Given the description of an element on the screen output the (x, y) to click on. 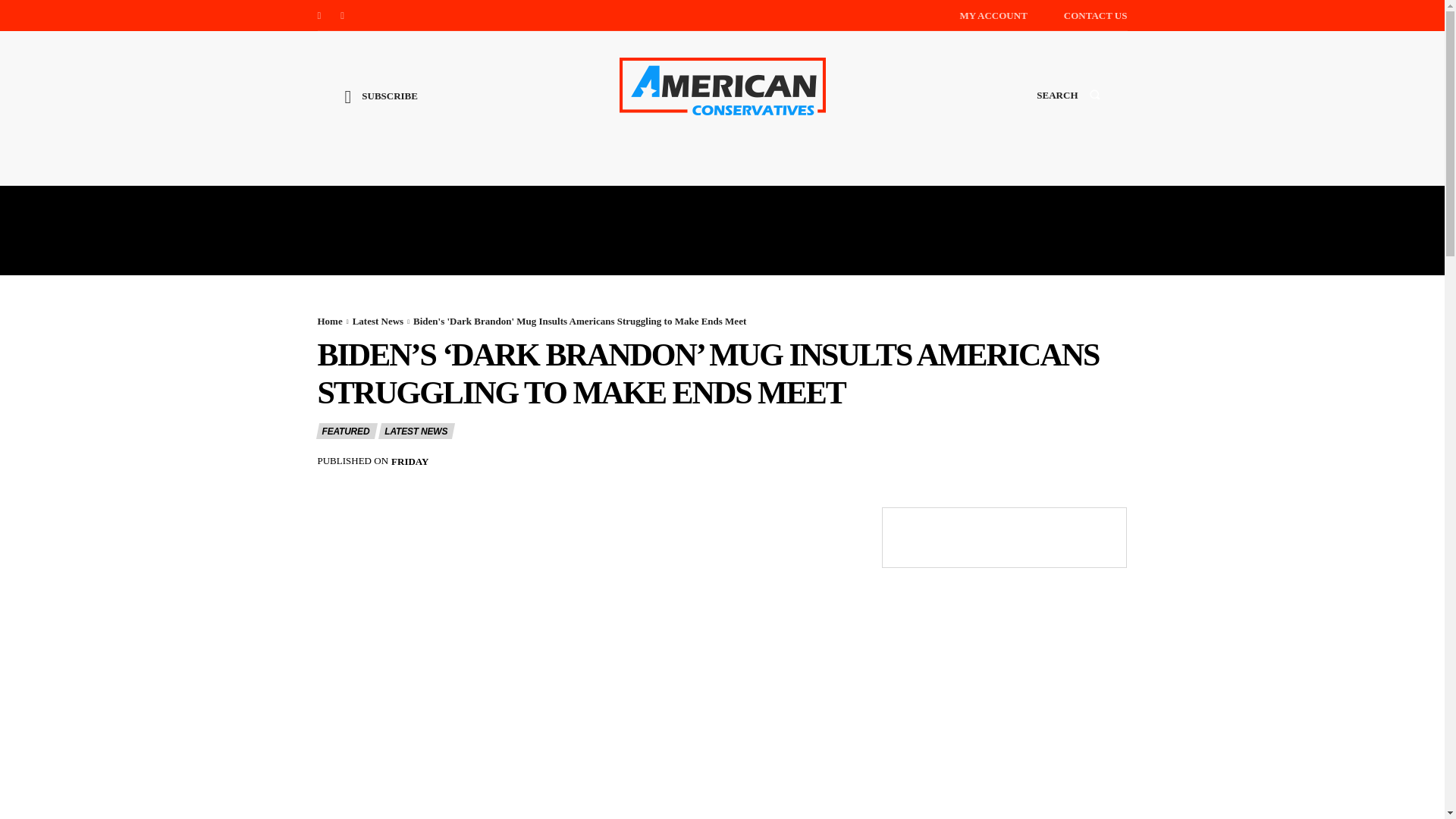
Subscribe (380, 107)
MY ACCOUNT (992, 15)
Facebook (318, 15)
FEATURED (346, 430)
Search (1067, 109)
Twitter (342, 15)
Contact Us (1095, 15)
CONTACT US (1095, 15)
Home (329, 320)
My Account (992, 15)
